Given the description of an element on the screen output the (x, y) to click on. 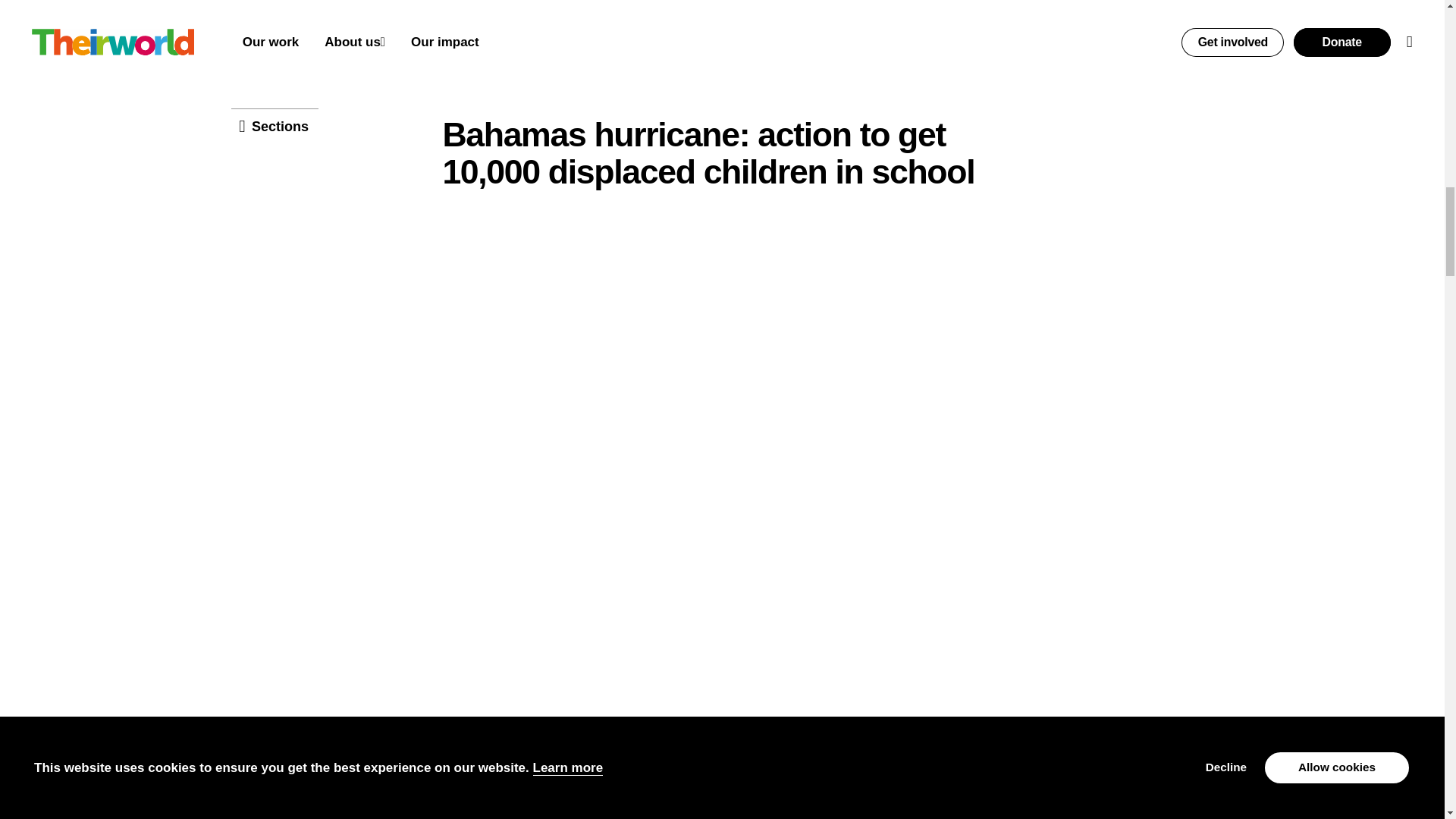
Back to school around the world in pictures (648, 39)
